Given the description of an element on the screen output the (x, y) to click on. 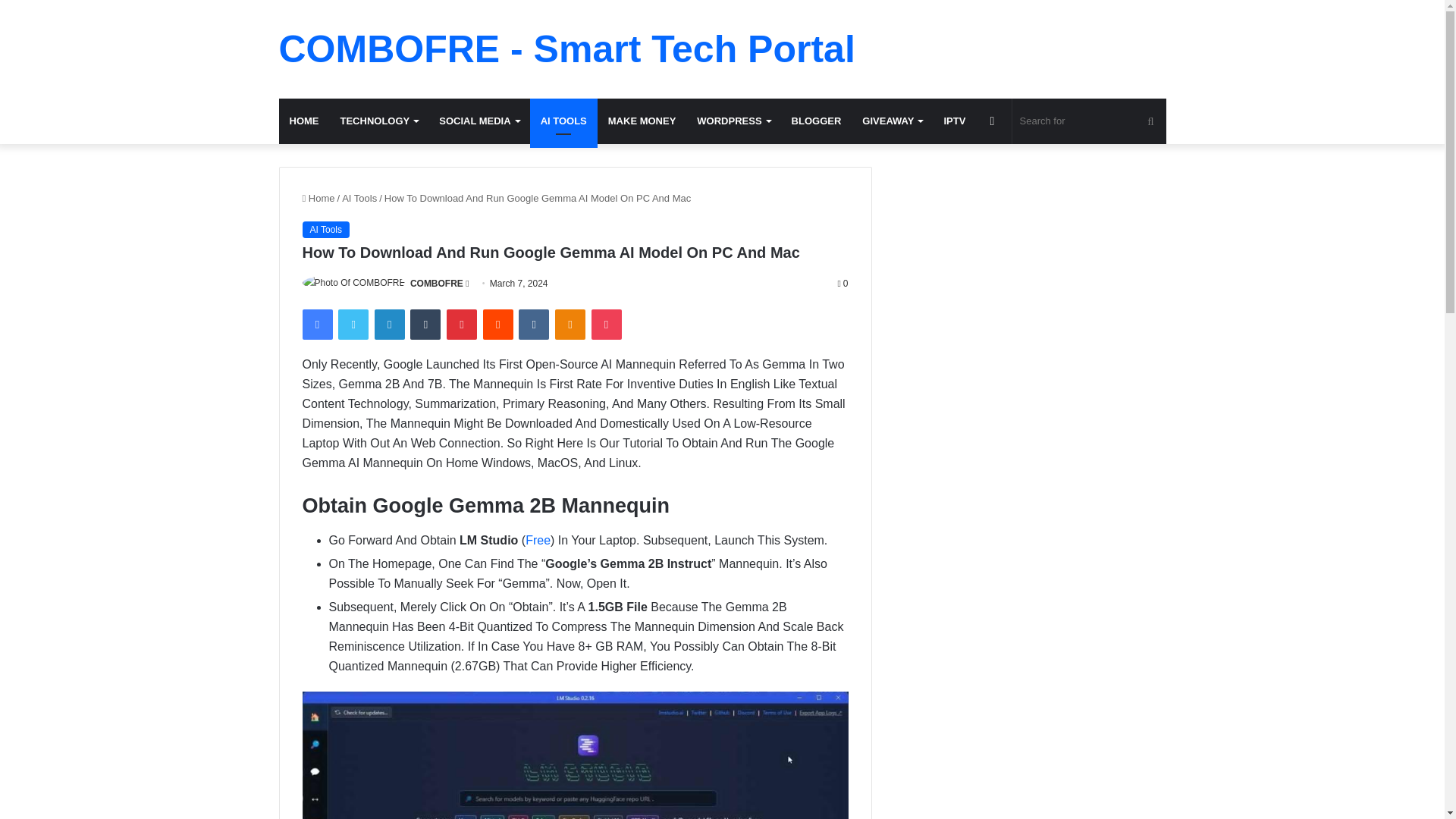
SOCIAL MEDIA (478, 121)
Twitter (352, 324)
Odnoklassniki (569, 324)
TECHNOLOGY (378, 121)
IPTV (954, 121)
AI Tools (325, 229)
Twitter (352, 324)
Reddit (498, 324)
VKontakte (533, 324)
HOME (304, 121)
